Given the description of an element on the screen output the (x, y) to click on. 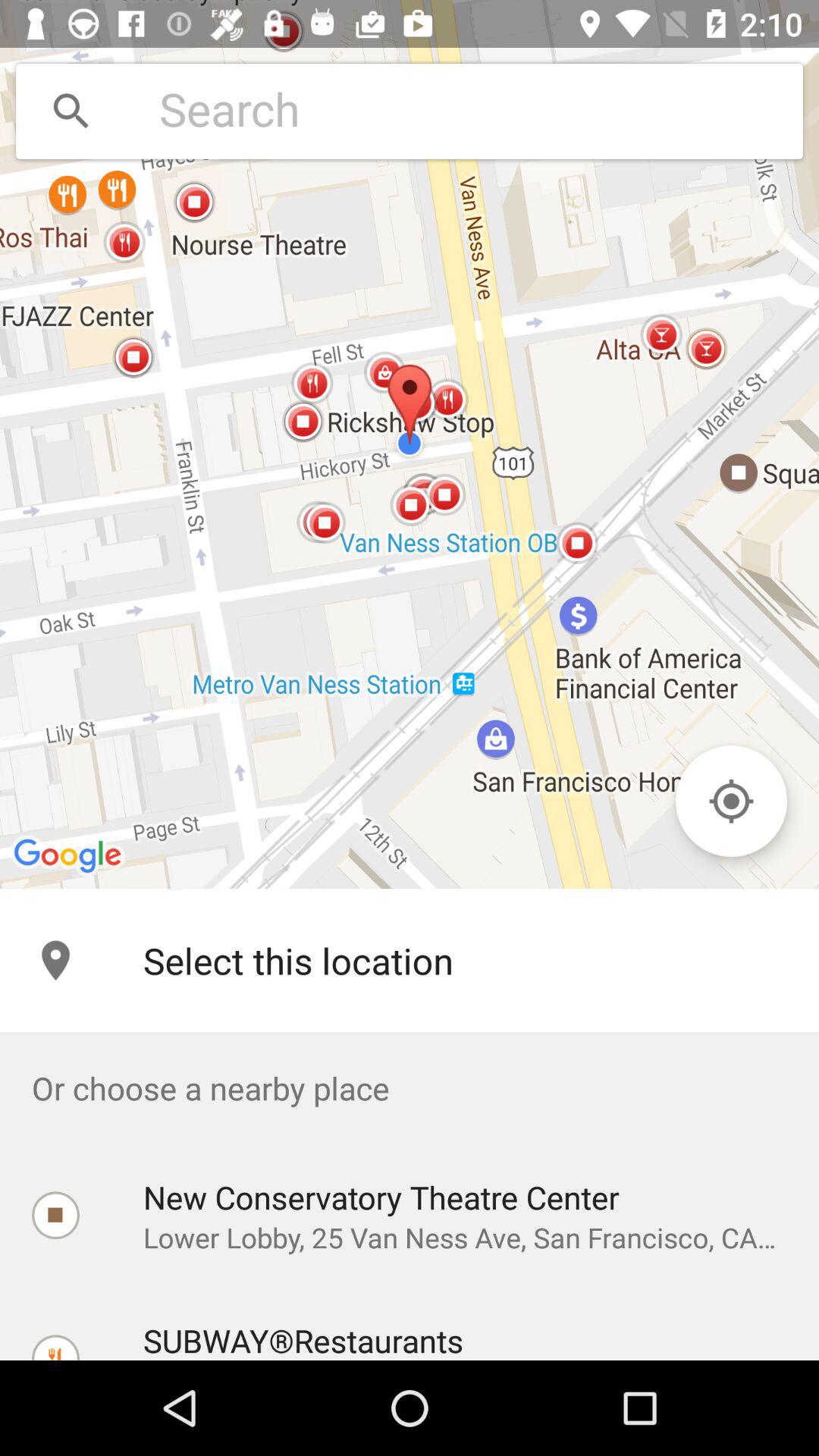
open item on the right (731, 801)
